Given the description of an element on the screen output the (x, y) to click on. 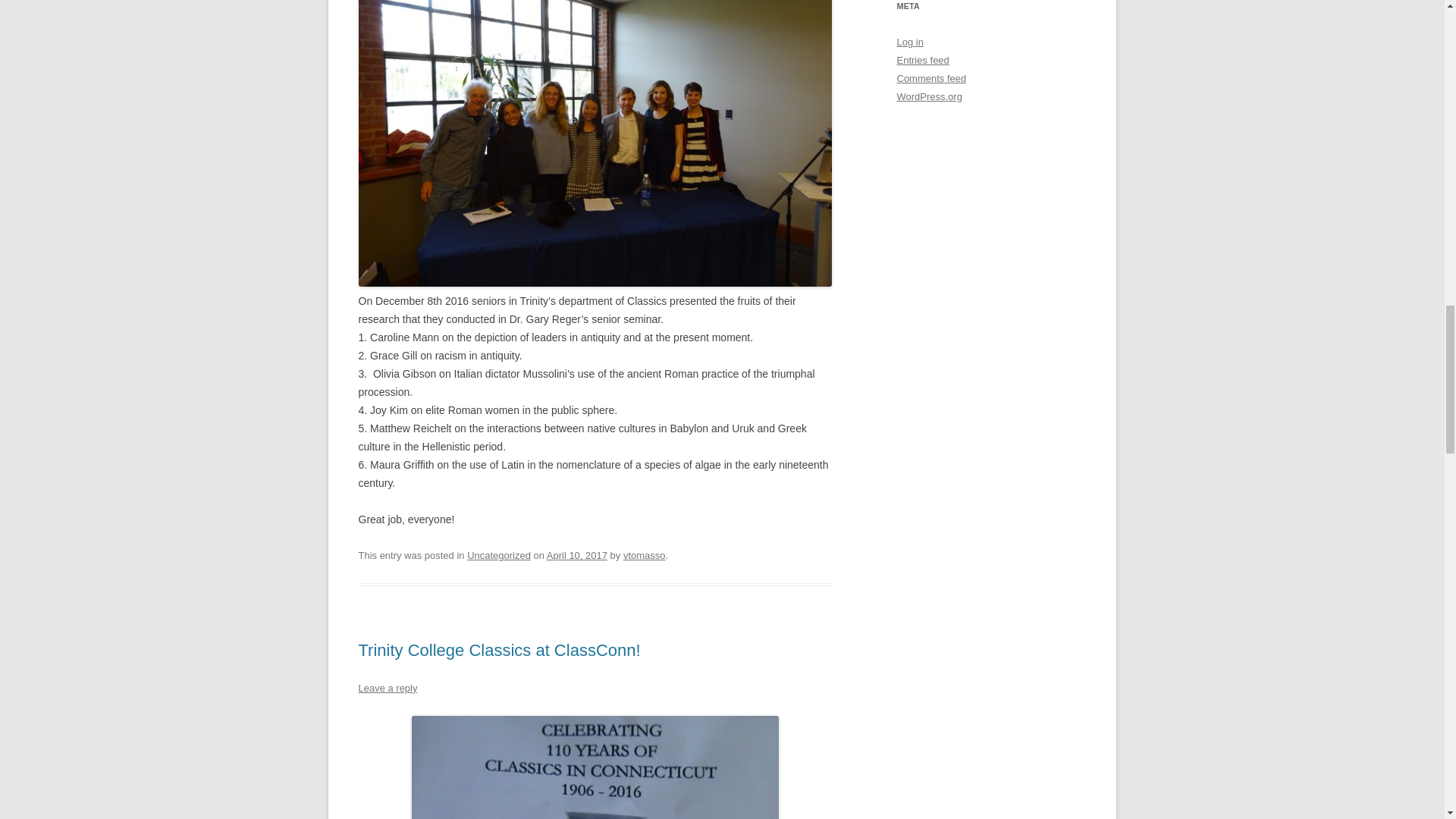
April 10, 2017 (577, 555)
Leave a reply (387, 687)
vtomasso (644, 555)
3:08 am (577, 555)
View all posts by vtomasso (644, 555)
Uncategorized (499, 555)
Trinity College Classics at ClassConn! (499, 650)
